Given the description of an element on the screen output the (x, y) to click on. 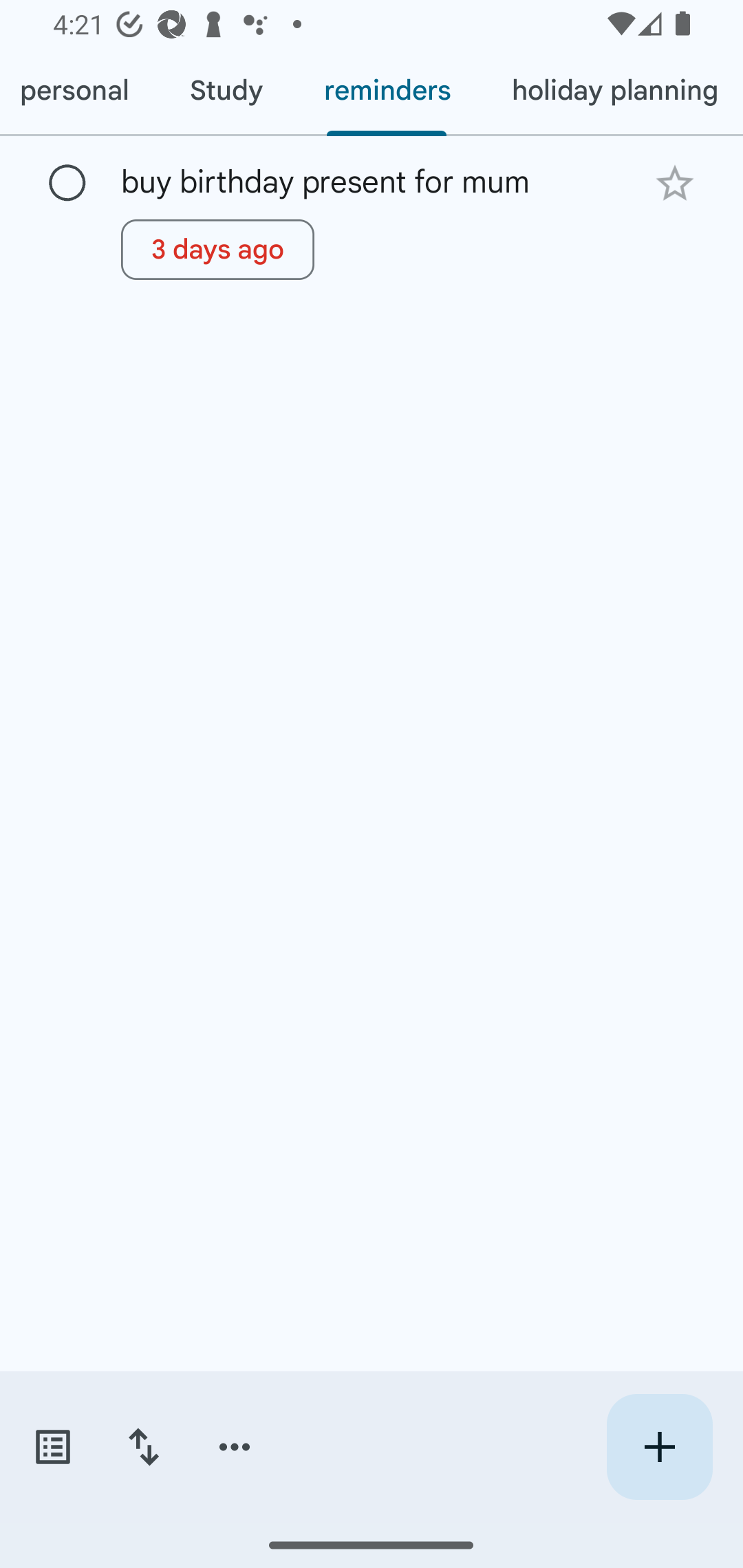
personal (79, 90)
Study (225, 90)
holiday planning (611, 90)
Add star (674, 182)
Mark as complete (67, 183)
3 days ago (217, 248)
Switch task lists (52, 1447)
Create new task (659, 1446)
Change sort order (143, 1446)
More options (234, 1446)
